Given the description of an element on the screen output the (x, y) to click on. 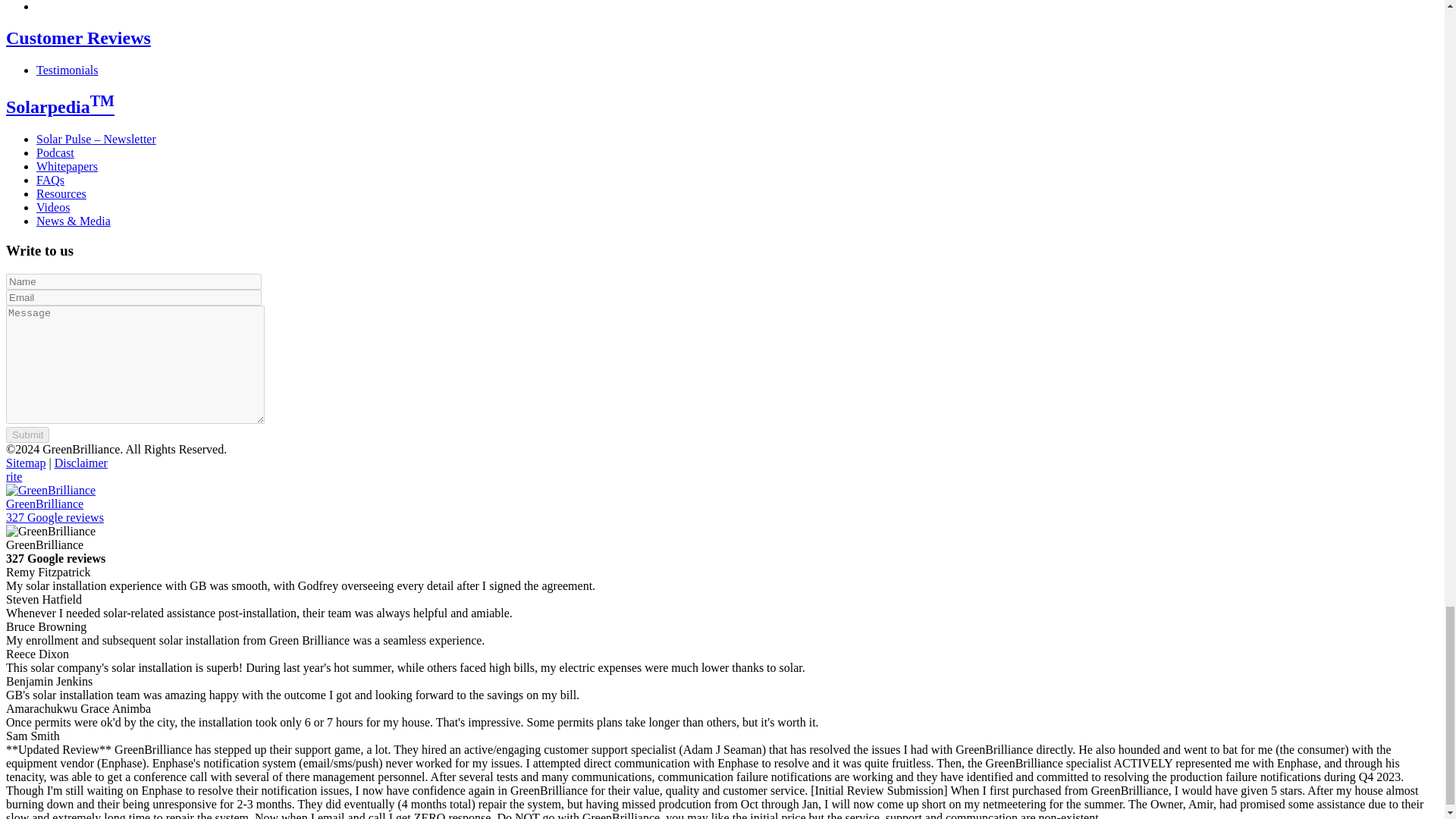
Submit (27, 434)
